Given the description of an element on the screen output the (x, y) to click on. 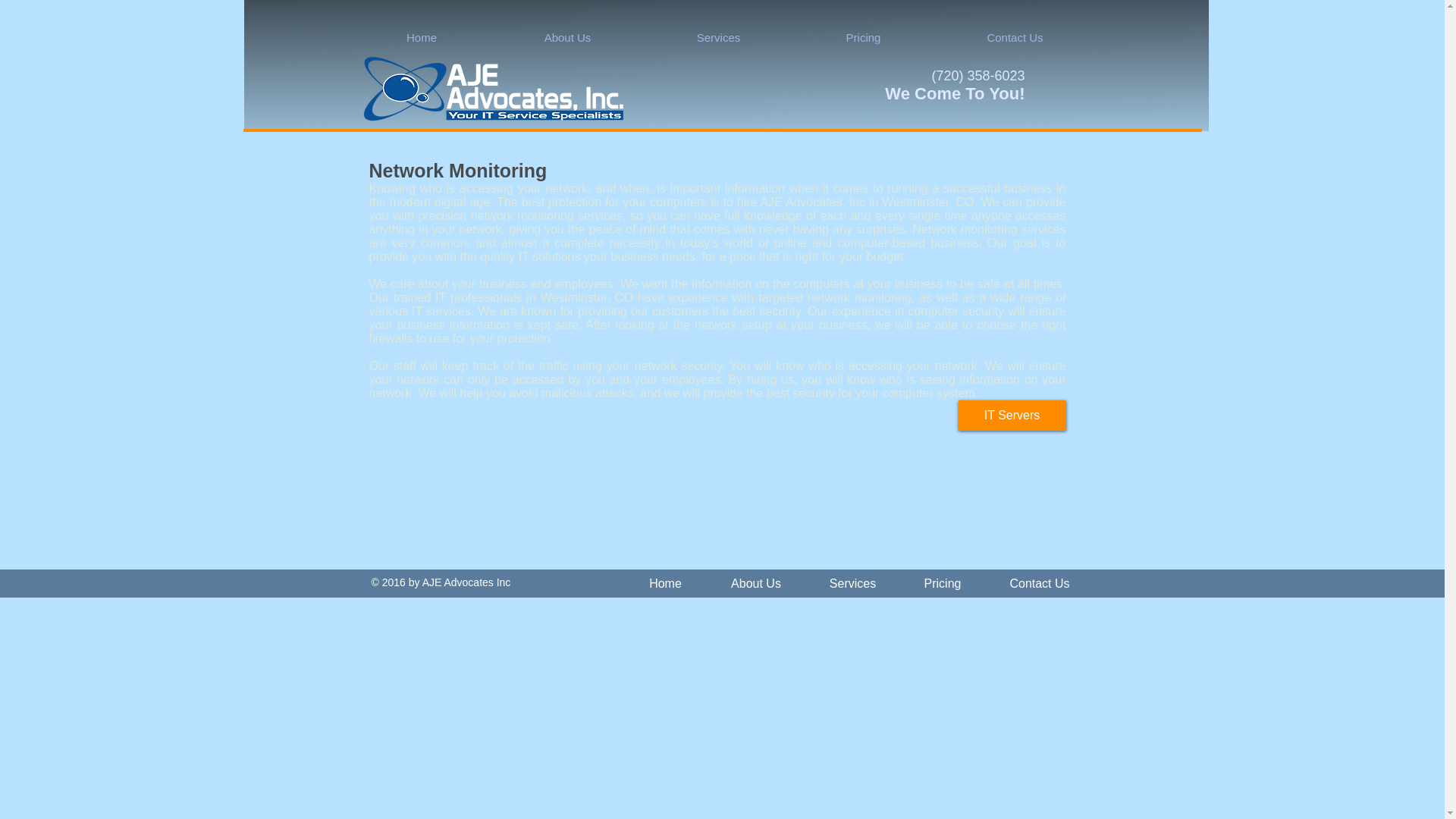
About Us (756, 582)
Services (718, 37)
About Us (568, 37)
Home (665, 582)
Contact Us (1014, 37)
IT Servers (1011, 415)
Pricing (863, 37)
Contact Us (1039, 582)
Services (852, 582)
Pricing (942, 582)
Home (422, 37)
